Given the description of an element on the screen output the (x, y) to click on. 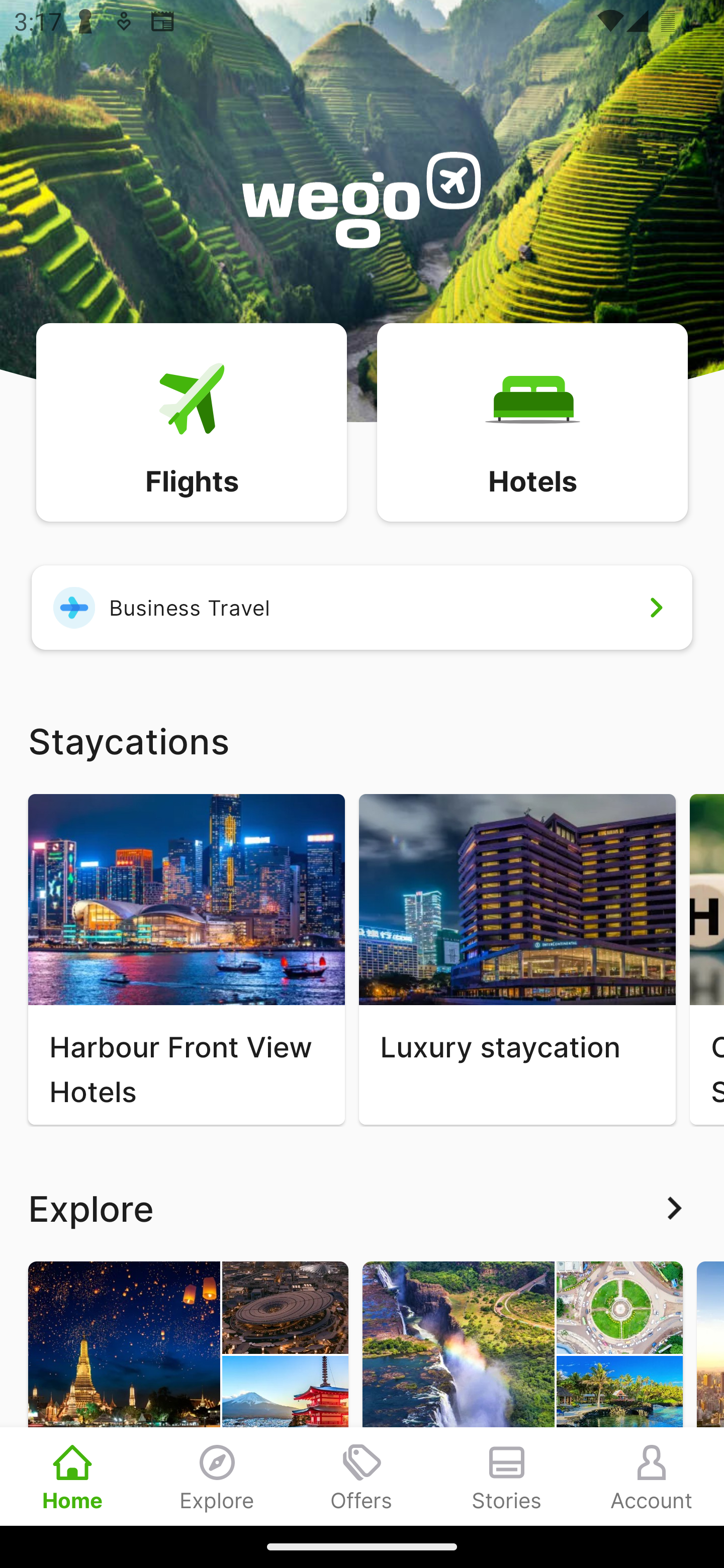
Flights (191, 420)
Hotels (532, 420)
Business Travel (361, 607)
Staycations (362, 739)
Harbour Front View Hotels (186, 958)
Luxury staycation (517, 958)
Explore (362, 1207)
Popular Destinations (188, 1392)
Visa-free Countries (522, 1392)
Explore (216, 1475)
Offers (361, 1475)
Stories (506, 1475)
Account (651, 1475)
